Given the description of an element on the screen output the (x, y) to click on. 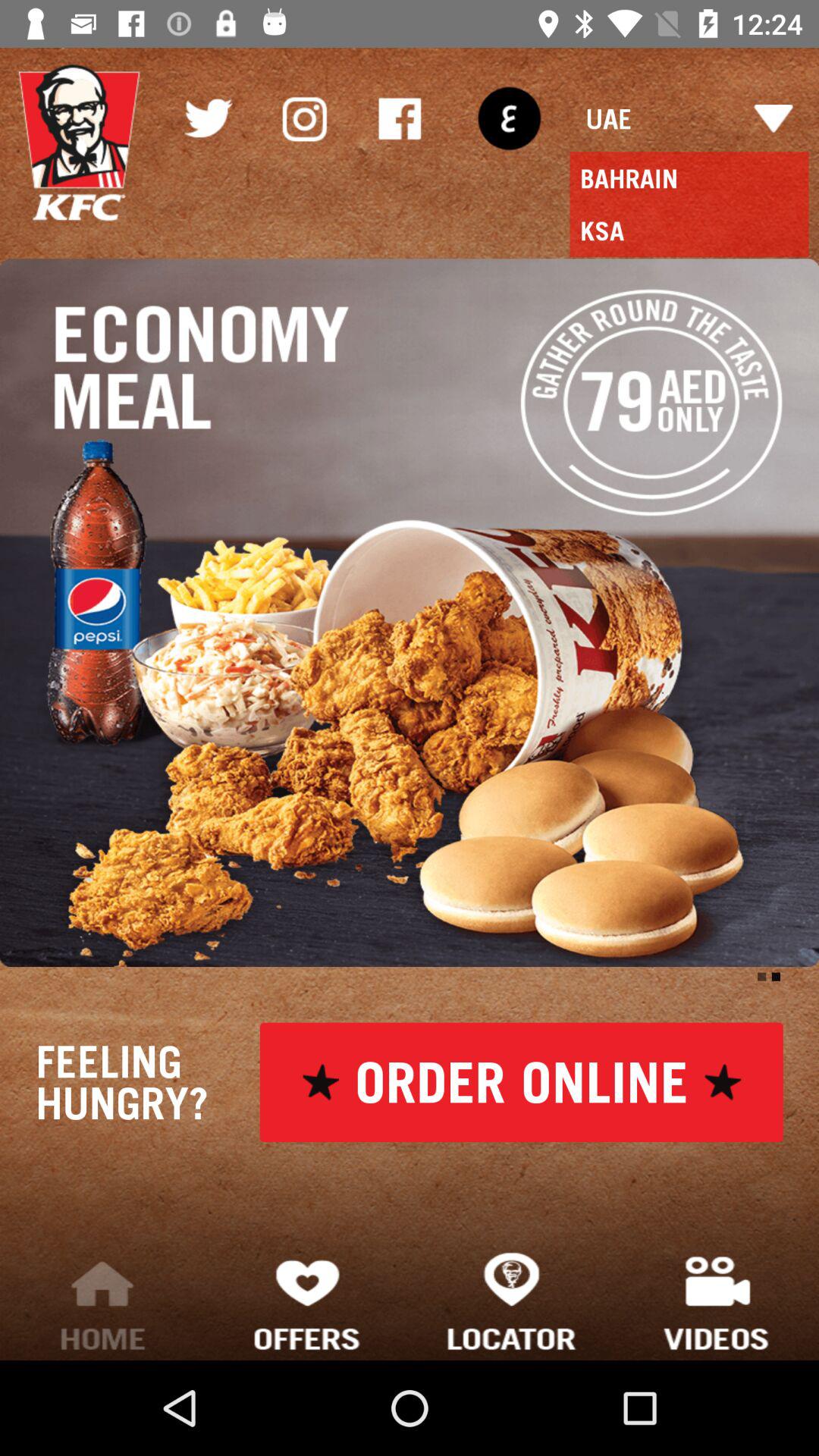
open bahrain item (688, 178)
